Given the description of an element on the screen output the (x, y) to click on. 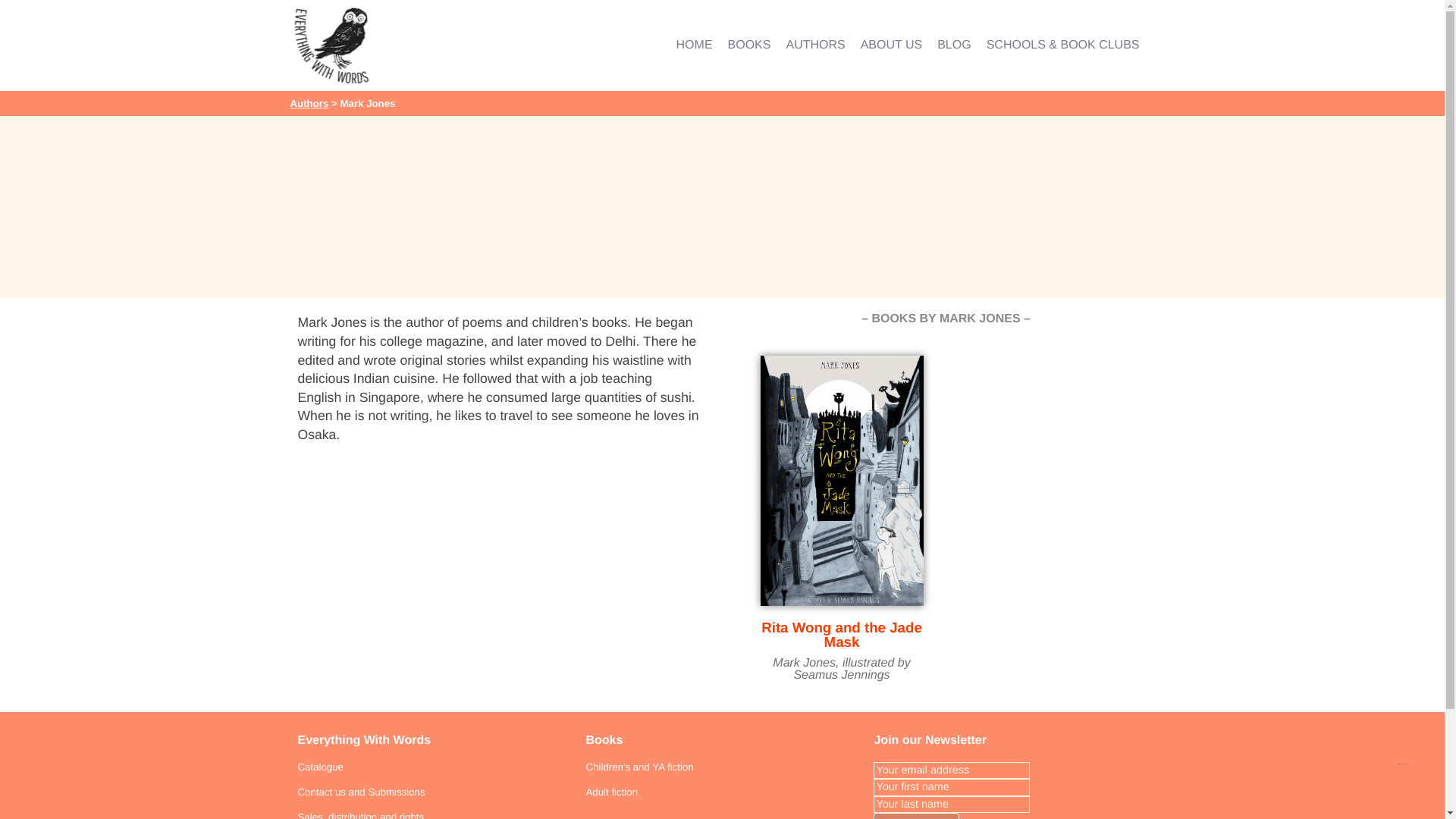
Contact us and Submissions (361, 791)
Children's and YA fiction (639, 767)
Books (604, 739)
Everything With Words (363, 739)
Sales, distribution and rights (360, 815)
Rita Wong and the Jade Mask (841, 634)
AUTHORS (814, 45)
HOME (694, 45)
ABOUT US (891, 45)
Catalogue (319, 767)
